Given the description of an element on the screen output the (x, y) to click on. 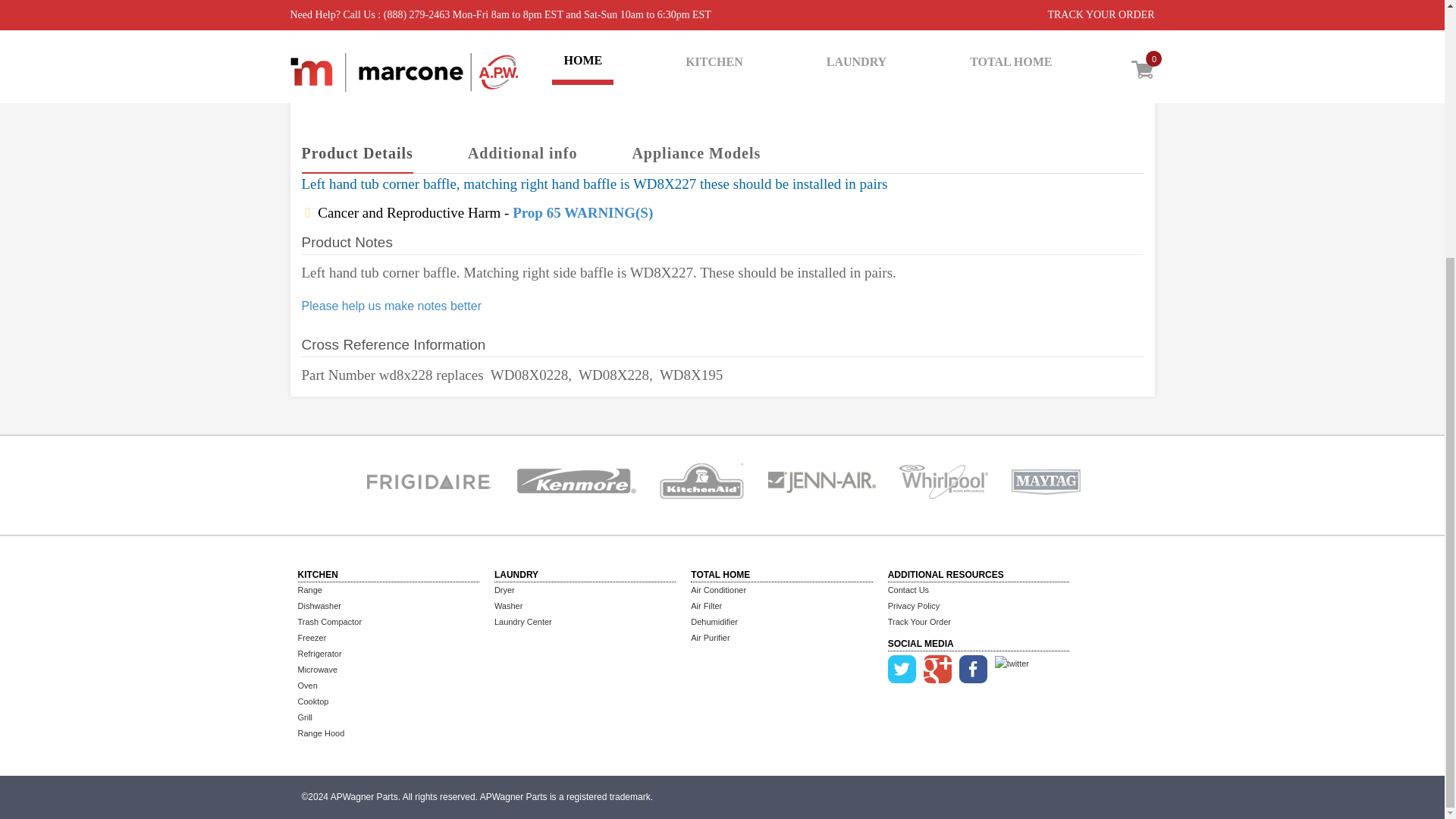
Appliance Models (695, 154)
Please help us make notes better (391, 306)
63141 (817, 12)
Add to Cart (814, 73)
Buy Now (917, 73)
Track Order (919, 621)
Additional info (521, 154)
BUY NOW (917, 73)
Product Details (357, 154)
ADD TO CART (814, 73)
